Given the description of an element on the screen output the (x, y) to click on. 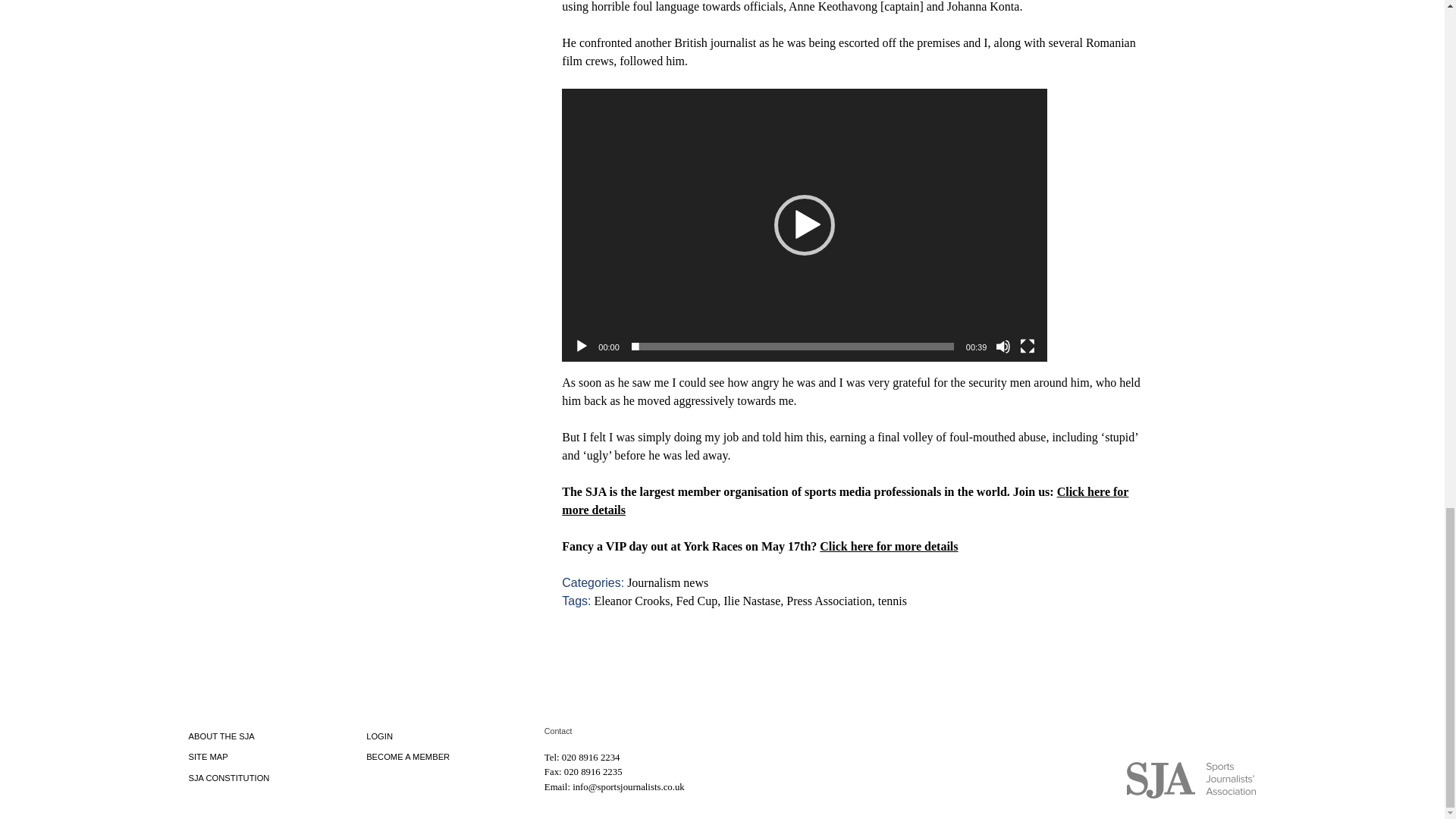
Click here for more details (888, 545)
tennis (892, 600)
Press Association (828, 600)
Mute (1002, 346)
Play (581, 346)
Fed Cup (697, 600)
Journalism news (667, 582)
Ilie Nastase (751, 600)
Click here for more details (845, 500)
Eleanor Crooks (631, 600)
